Given the description of an element on the screen output the (x, y) to click on. 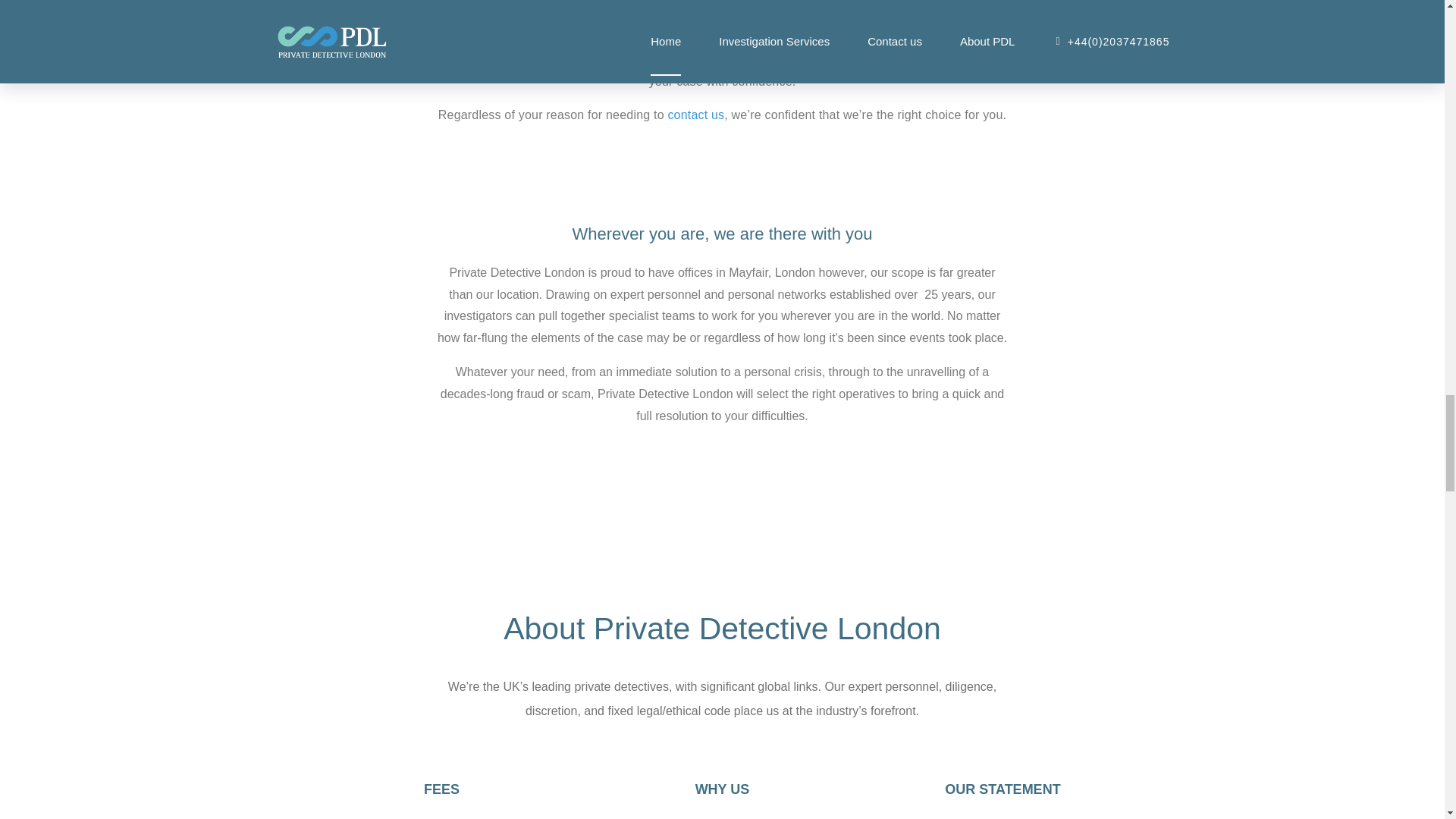
Criminal Defence London (695, 37)
